Given the description of an element on the screen output the (x, y) to click on. 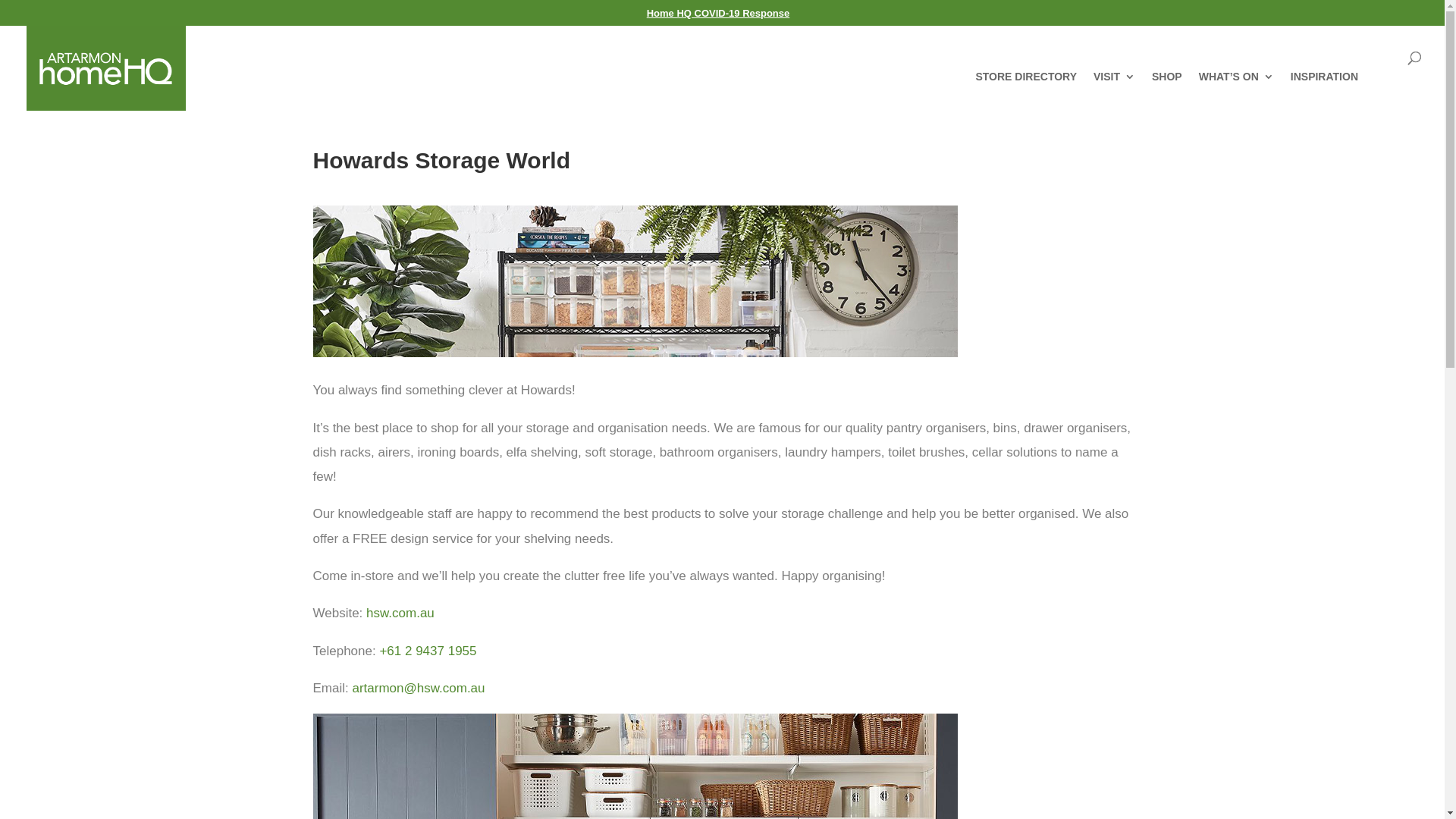
SHOP Element type: text (1166, 90)
INSPIRATION Element type: text (1324, 90)
Home HQ COVID-19 Response Element type: text (718, 12)
VISIT Element type: text (1114, 90)
STORE DIRECTORY Element type: text (1025, 90)
artarmon@hsw.com.au Element type: text (417, 687)
hsw.com.au Element type: text (400, 612)
+61 2 9437 1955 Element type: text (427, 650)
